Given the description of an element on the screen output the (x, y) to click on. 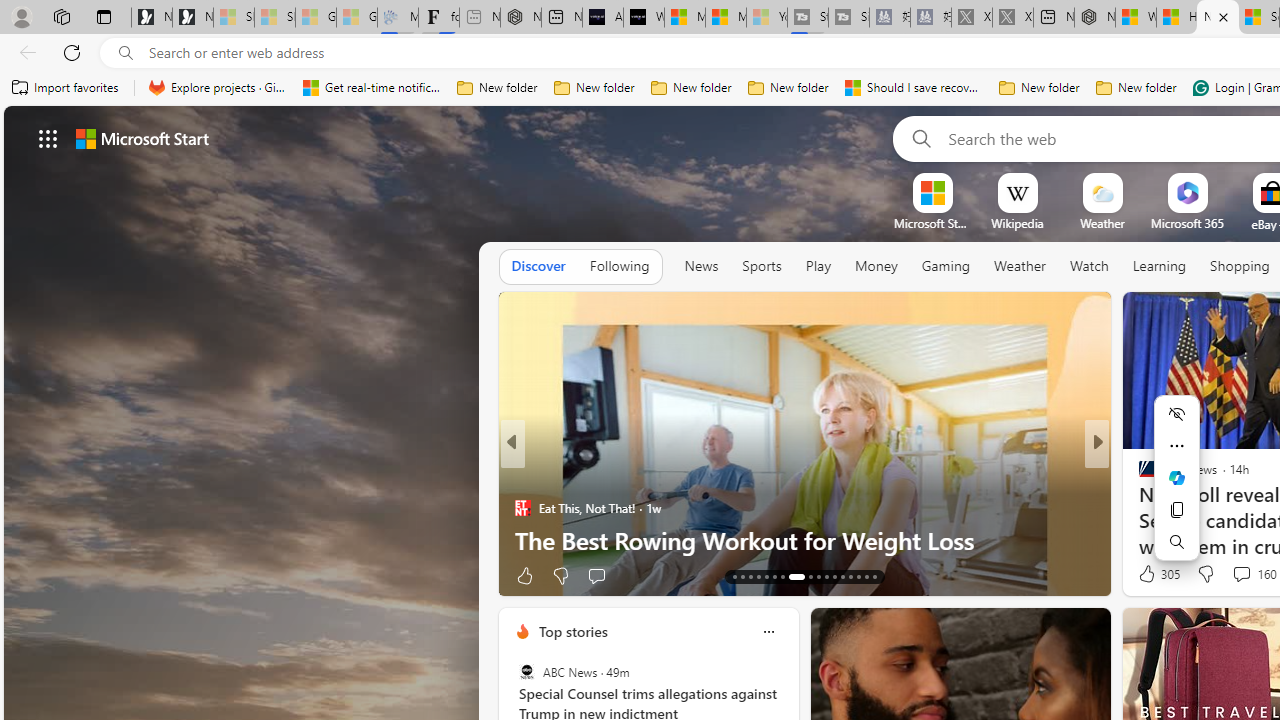
Sports (761, 265)
Tom's Guide (1138, 507)
AutomationID: tab-13 (733, 576)
Import favorites (65, 88)
Back (24, 52)
Copy (1176, 509)
